Given the description of an element on the screen output the (x, y) to click on. 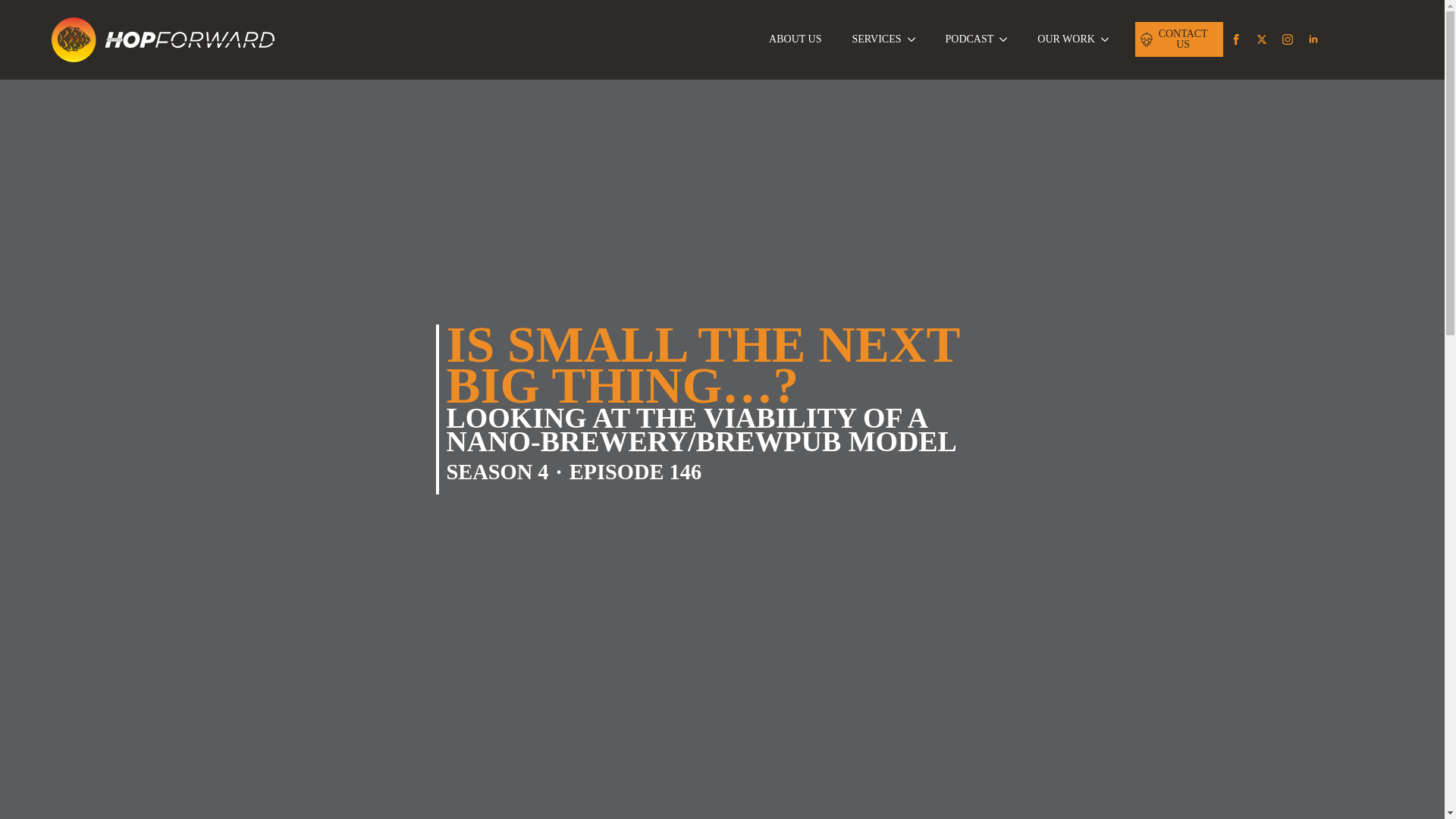
PODCAST (961, 38)
OUR WORK (1058, 38)
CONTACT US (1179, 39)
SERVICES (868, 38)
ABOUT US (794, 38)
